Given the description of an element on the screen output the (x, y) to click on. 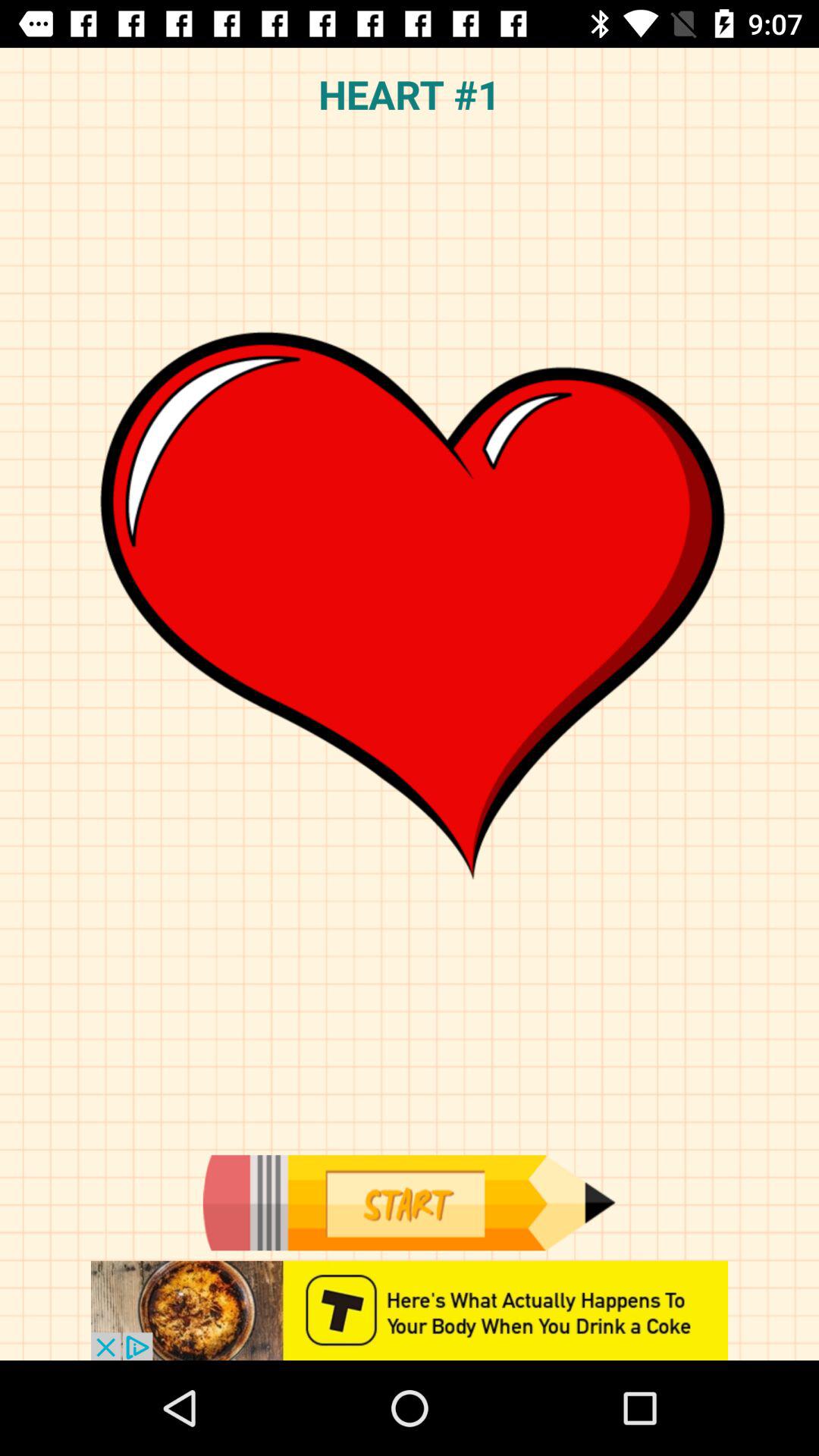
its a advertisement (409, 1310)
